Given the description of an element on the screen output the (x, y) to click on. 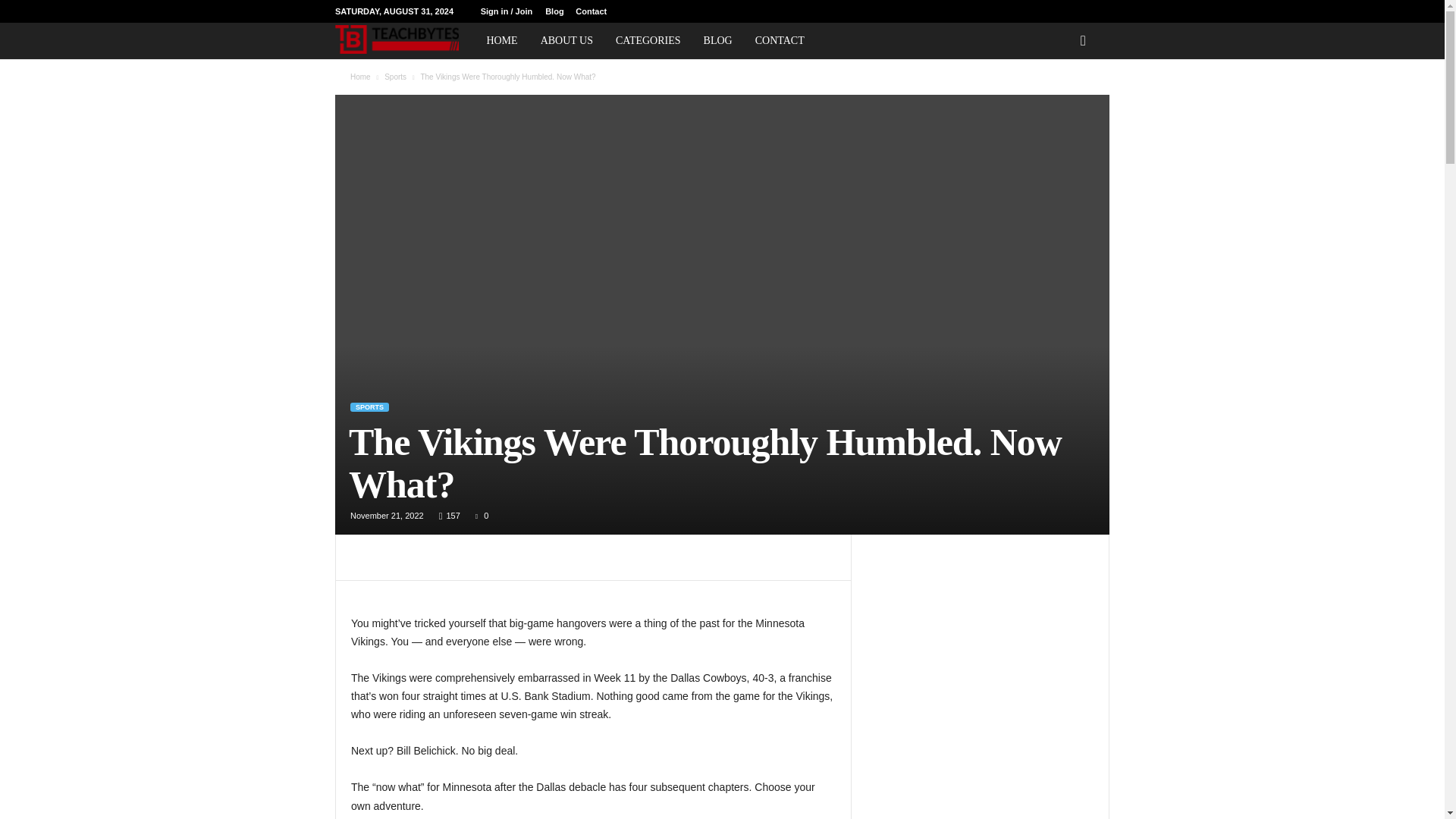
Teachbytes (404, 39)
View all posts in Sports (395, 76)
ABOUT US (566, 40)
Home (360, 76)
HOME (501, 40)
CATEGORIES (648, 40)
CONTACT (779, 40)
BLOG (718, 40)
Blog (553, 10)
Contact (591, 10)
